Given the description of an element on the screen output the (x, y) to click on. 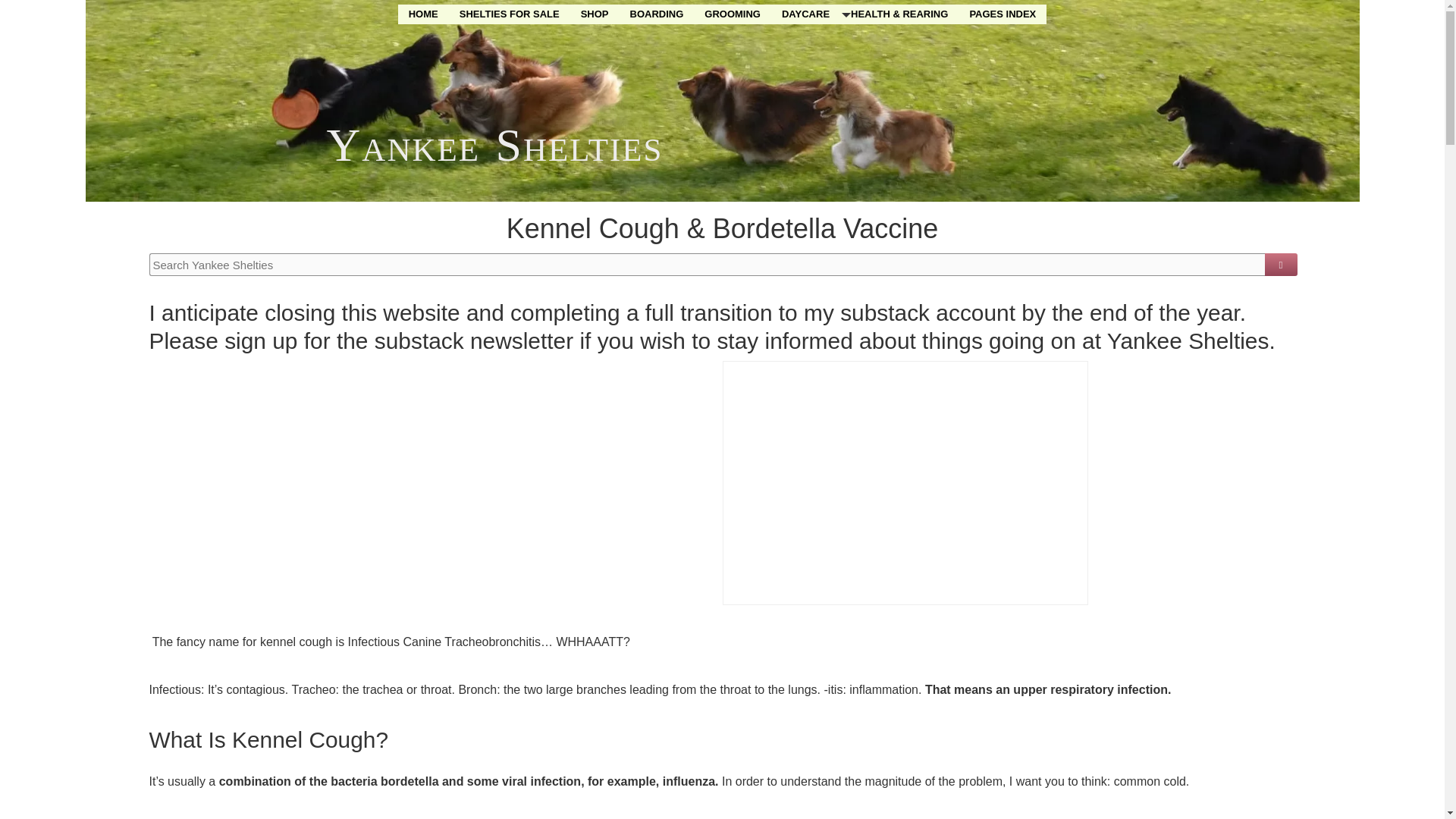
Yankee Shelties (494, 144)
DAYCARE (805, 14)
SHOP (595, 14)
BOARDING (657, 14)
SHELTIES FOR SALE (509, 14)
HOME (422, 14)
PAGES INDEX (1002, 14)
GROOMING (732, 14)
